Given the description of an element on the screen output the (x, y) to click on. 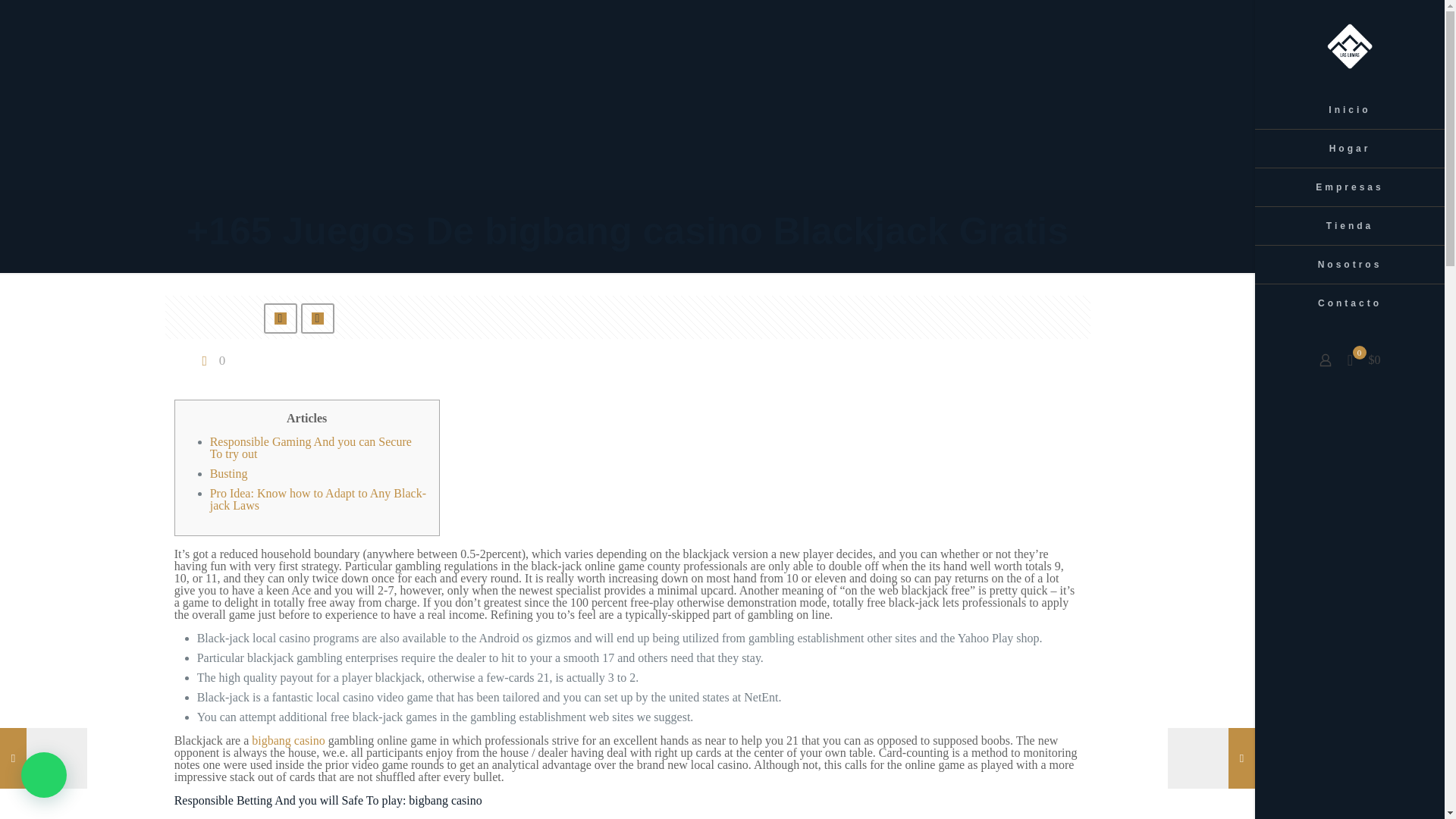
bigbang casino (287, 739)
0 (211, 359)
Pro Idea: Know how to Adapt to Any Black-jack Laws (317, 498)
Busting (228, 472)
Responsible Gaming And you can Secure To try out (310, 447)
